Given the description of an element on the screen output the (x, y) to click on. 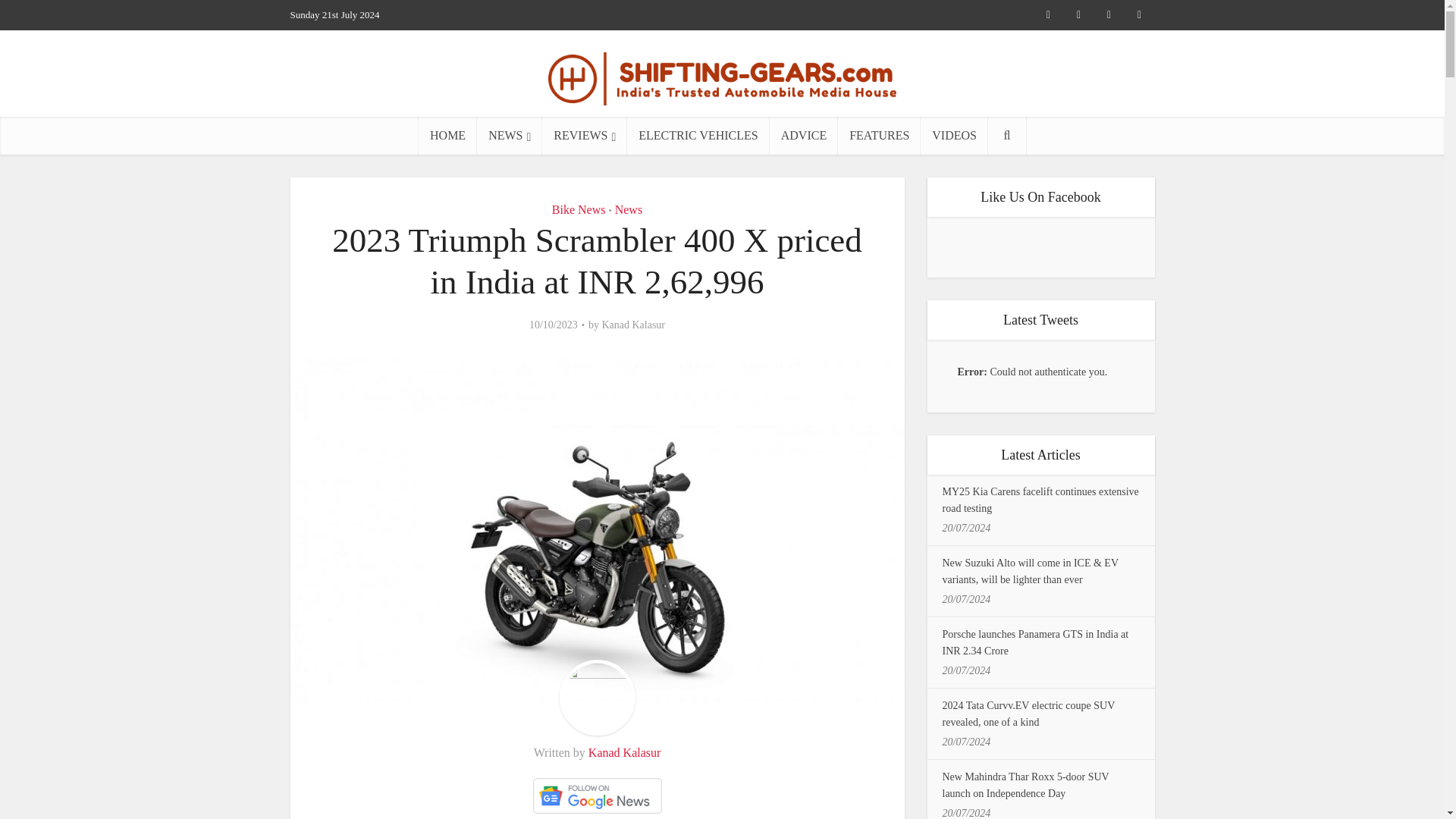
NEWS (509, 135)
New Mahindra Thar Roxx 5-door SUV launch on Independence Day (1025, 785)
ELECTRIC VEHICLES (697, 135)
Kanad Kalasur (633, 325)
Bike News (578, 209)
Porsche launches Panamera GTS in India at INR 2.34 Crore (1035, 642)
Shifting-Gears (722, 73)
ADVICE (804, 135)
News (628, 209)
Kanad Kalasur (624, 752)
MY25 Kia Carens facelift continues extensive road testing (1040, 500)
HOME (448, 135)
VIDEOS (954, 135)
FEATURES (879, 135)
